Given the description of an element on the screen output the (x, y) to click on. 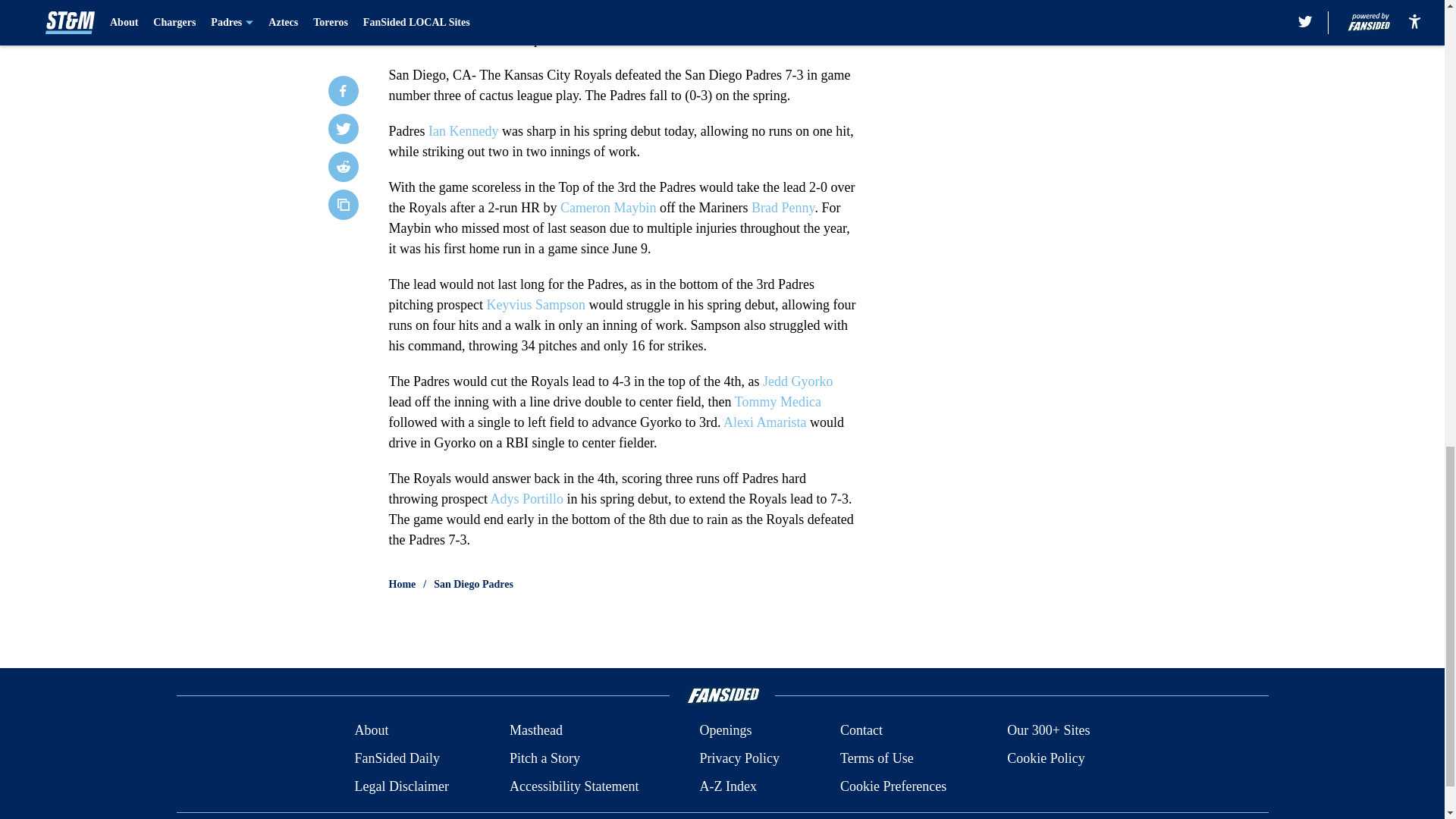
San Diego Padres (473, 584)
Brad Penny (782, 207)
Masthead (535, 730)
Keyvius Sampson (535, 304)
Pitch a Story (544, 758)
Cookie Policy (1045, 758)
Home (401, 584)
Adys Portillo (526, 498)
Accessibility Statement (574, 786)
Privacy Policy (738, 758)
